Given the description of an element on the screen output the (x, y) to click on. 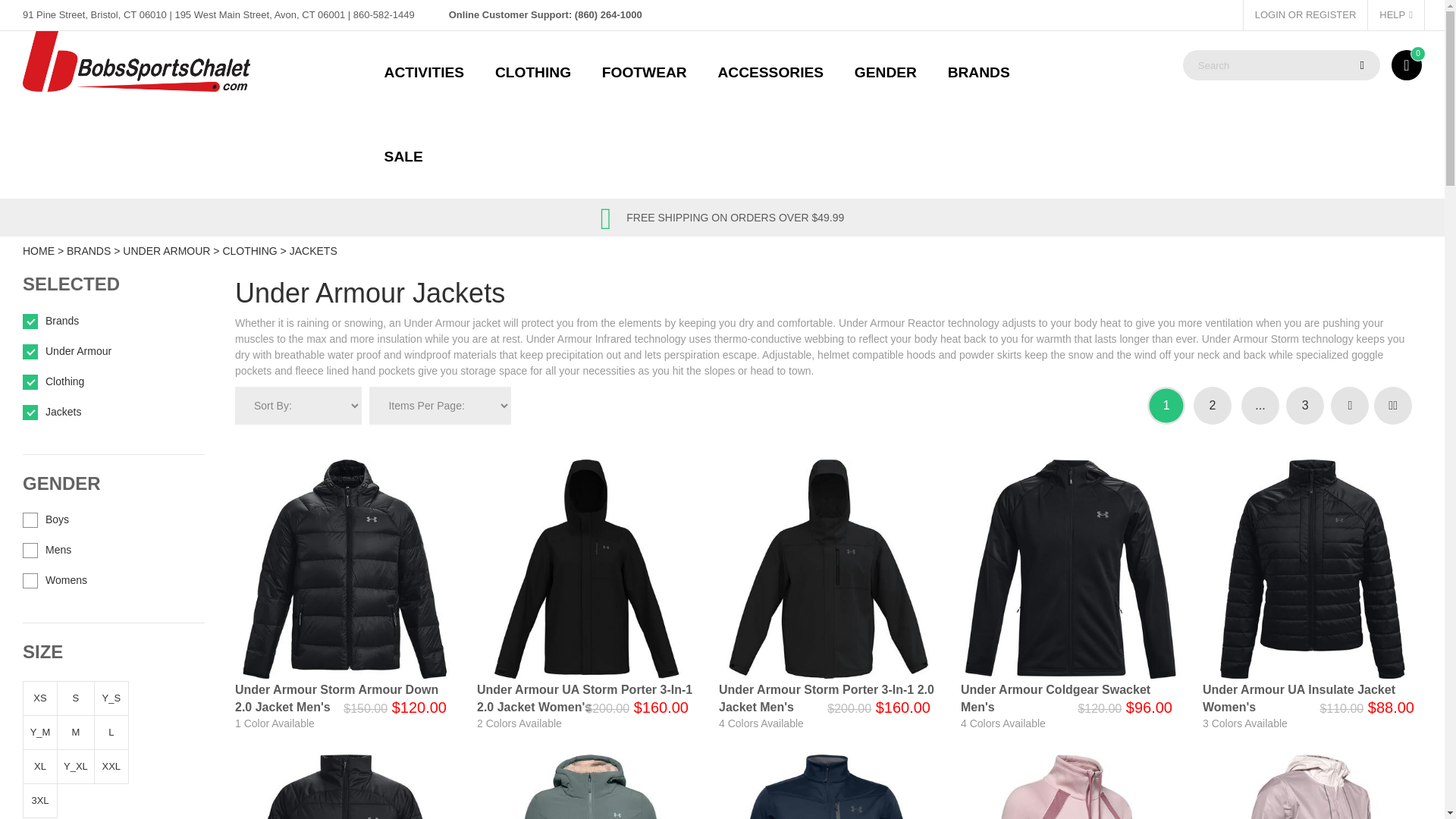
LOGIN OR REGISTER (1305, 15)
ACTIVITIES (424, 73)
HELP (1396, 15)
